Given the description of an element on the screen output the (x, y) to click on. 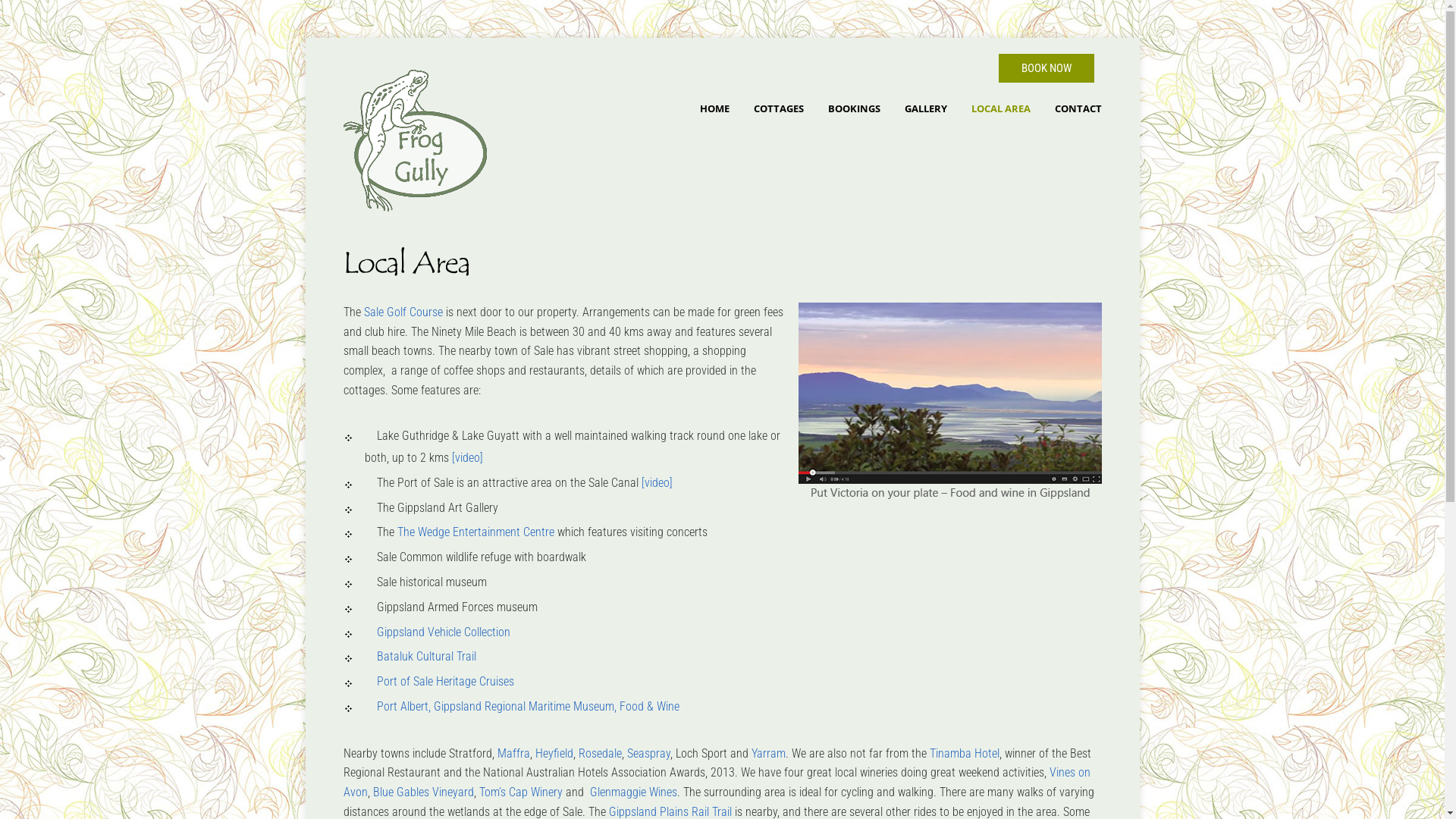
Food & Wine Element type: text (648, 706)
Sale Golf Course Element type: text (403, 311)
Glenmaggie Wines Element type: text (633, 791)
Port of Sale Heritage Cruises Element type: text (444, 681)
The Wedge Entertainment Centre Element type: text (475, 531)
Seaspray Element type: text (647, 753)
LOCAL AREA Element type: text (999, 108)
[video] Element type: text (656, 482)
    Port Albert, Element type: text (398, 706)
Gippsland Regional Maritime Museum Element type: text (523, 706)
, Element type: text (616, 706)
Blue Gables Vineyard Element type: text (423, 791)
Tinamba Hotel Element type: text (964, 753)
Put Victoria on your plate - Gippsland Element type: hover (949, 400)
HOME Element type: text (713, 108)
CONTACT Element type: text (1077, 108)
Heyfield Element type: text (554, 753)
Vines on Avon Element type: text (715, 782)
Bataluk Cultural Trail Element type: text (425, 656)
Gippsland Vehicle Collection Element type: text (442, 631)
GALLERY Element type: text (924, 108)
Maffra Element type: text (513, 753)
Yarram Element type: text (767, 753)
Rosedale Element type: text (599, 753)
BOOKINGS Element type: text (853, 108)
COTTAGES Element type: text (778, 108)
BOOK NOW Element type: text (1045, 67)
[video] Element type: text (467, 457)
